Given the description of an element on the screen output the (x, y) to click on. 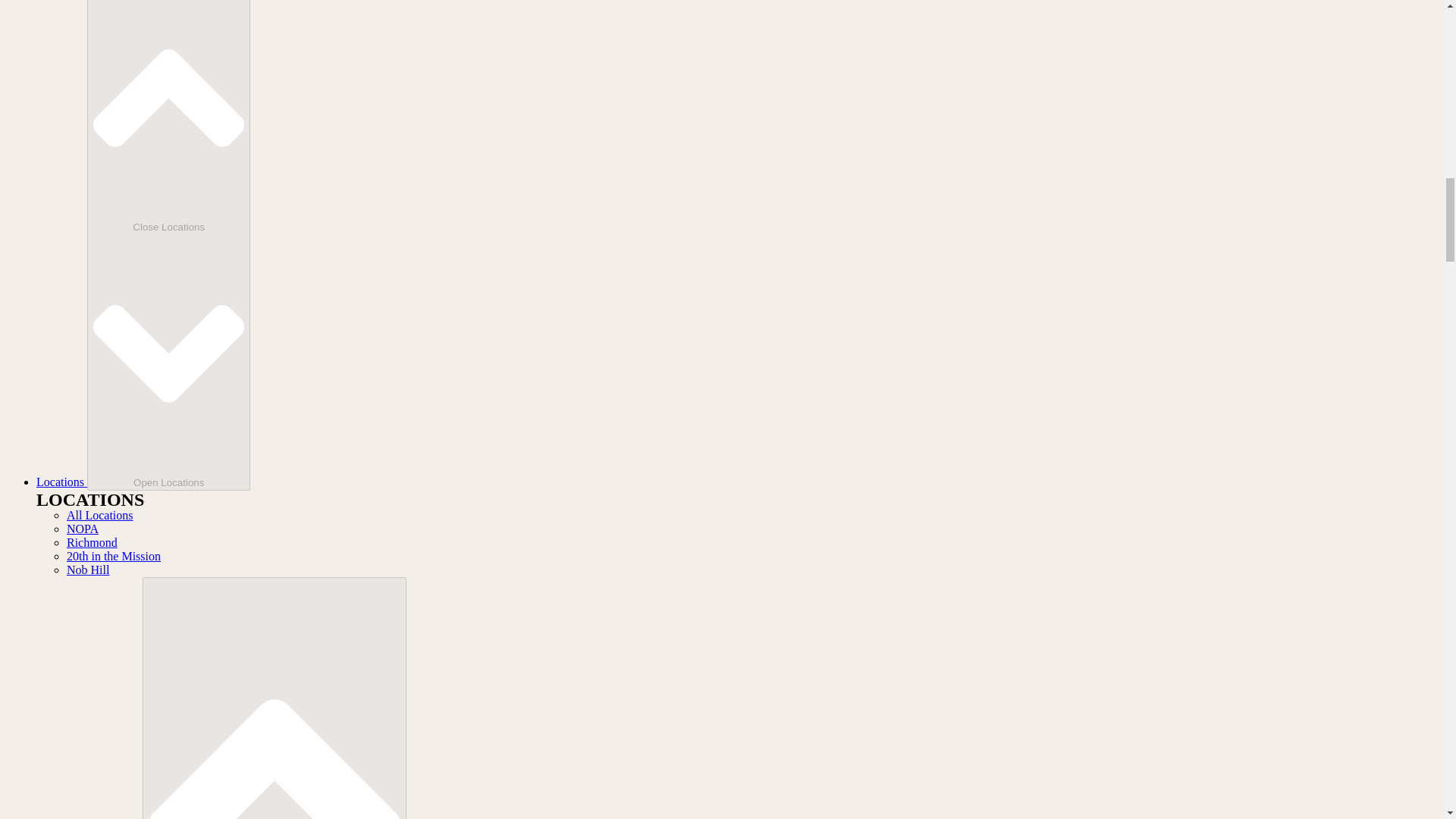
Richmond (91, 542)
All Locations (99, 514)
Locations (61, 481)
NOPA (82, 528)
20th in the Mission (113, 555)
